Given the description of an element on the screen output the (x, y) to click on. 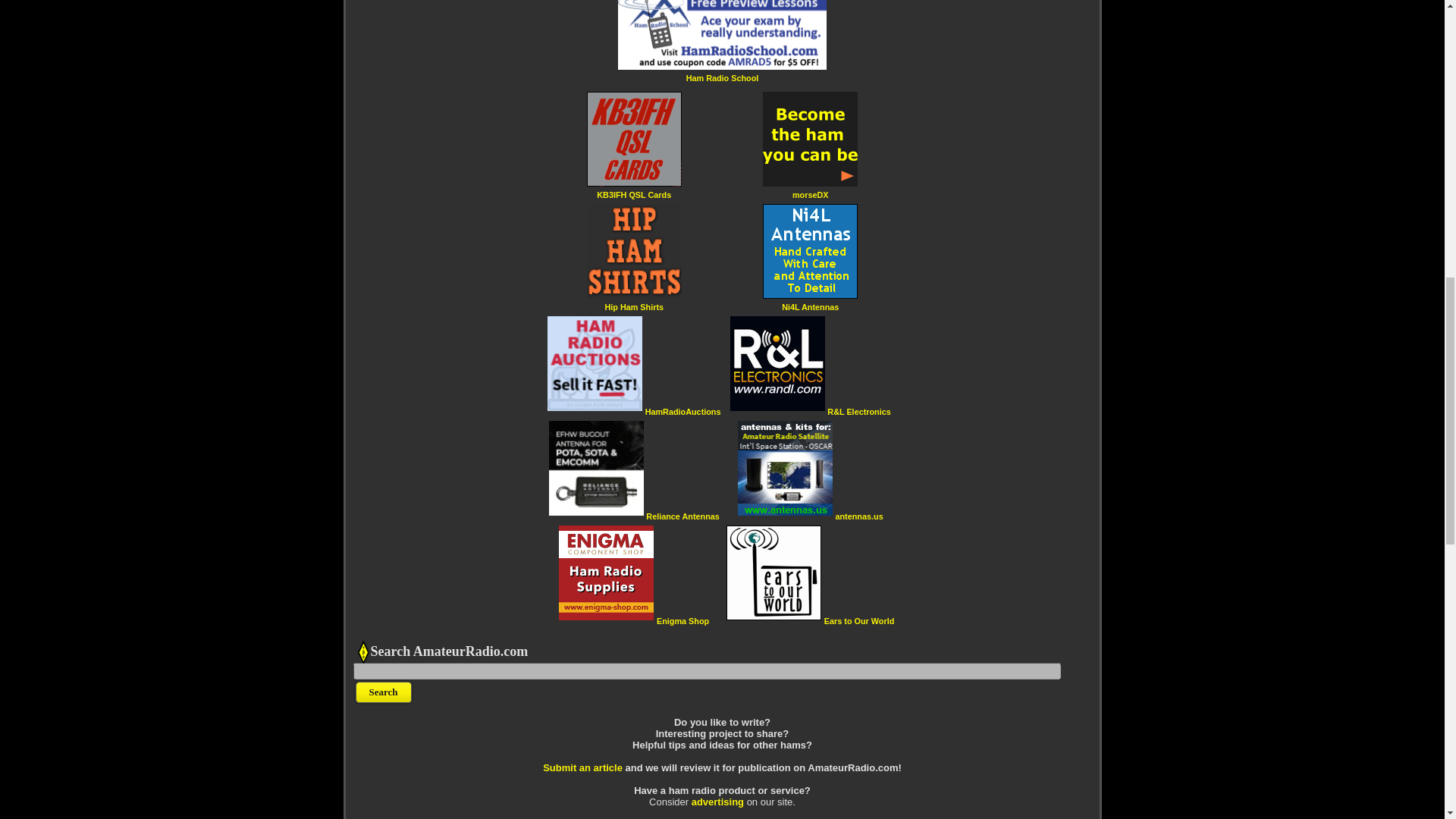
Search (383, 692)
HamRadioAuctions (682, 410)
Ears to Our World (858, 620)
Reliance Antennas (682, 515)
antennas.us (858, 515)
Search (383, 692)
Hip Ham Shirts (633, 306)
Ni4L Antennas (809, 306)
Ham Radio School (721, 77)
Submit an article (583, 767)
morseDX (810, 194)
Enigma Shop (682, 620)
KB3IFH QSL Cards (633, 194)
advertising (717, 801)
